Given the description of an element on the screen output the (x, y) to click on. 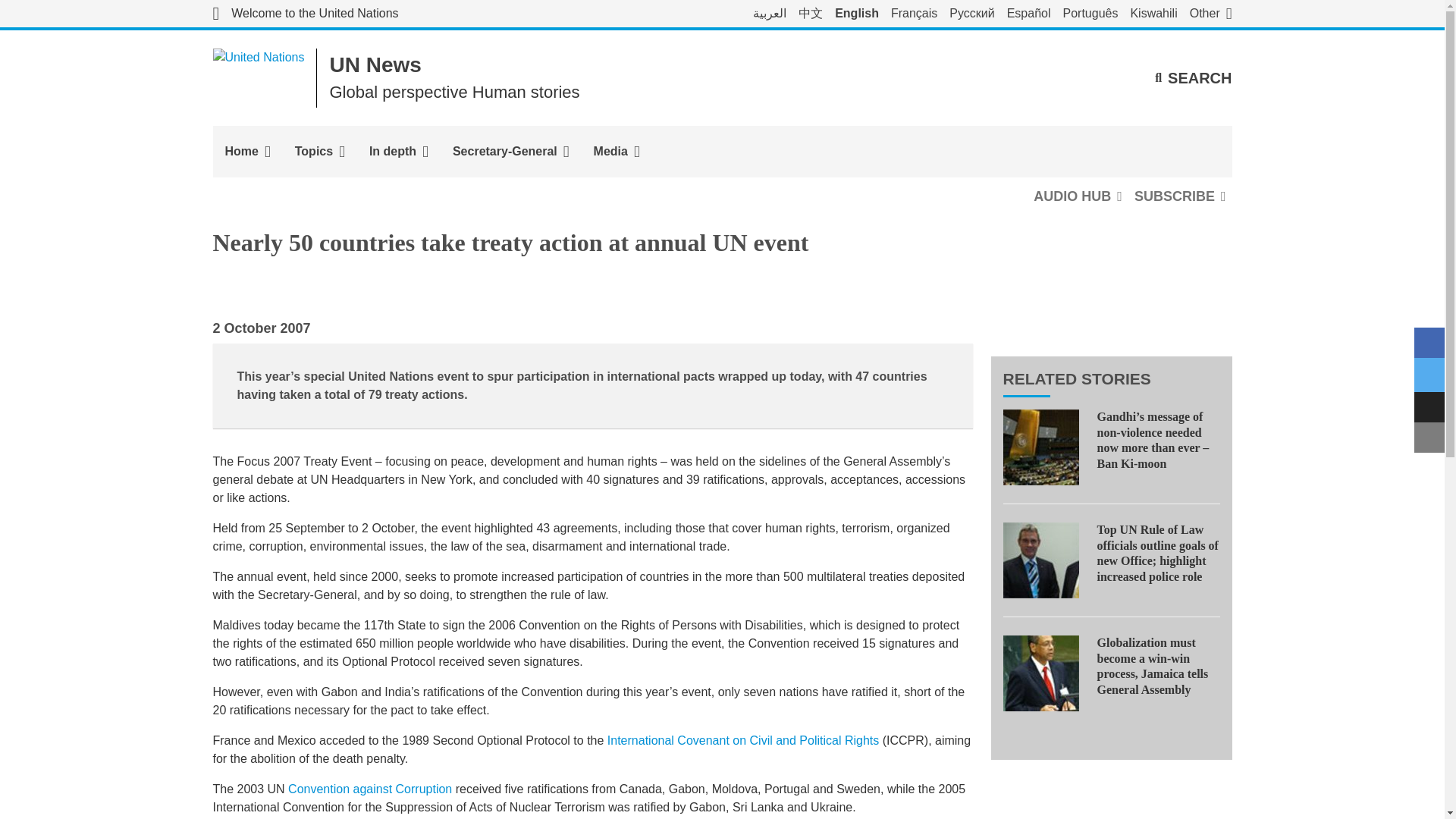
SEARCH (1192, 77)
English (856, 13)
Kiswahili (1152, 13)
UN News (374, 64)
United Nations (258, 76)
Home (247, 151)
Other (1210, 13)
Topics (319, 151)
United Nations (304, 13)
UN News (374, 64)
Home (247, 151)
Welcome to the United Nations (304, 13)
